Given the description of an element on the screen output the (x, y) to click on. 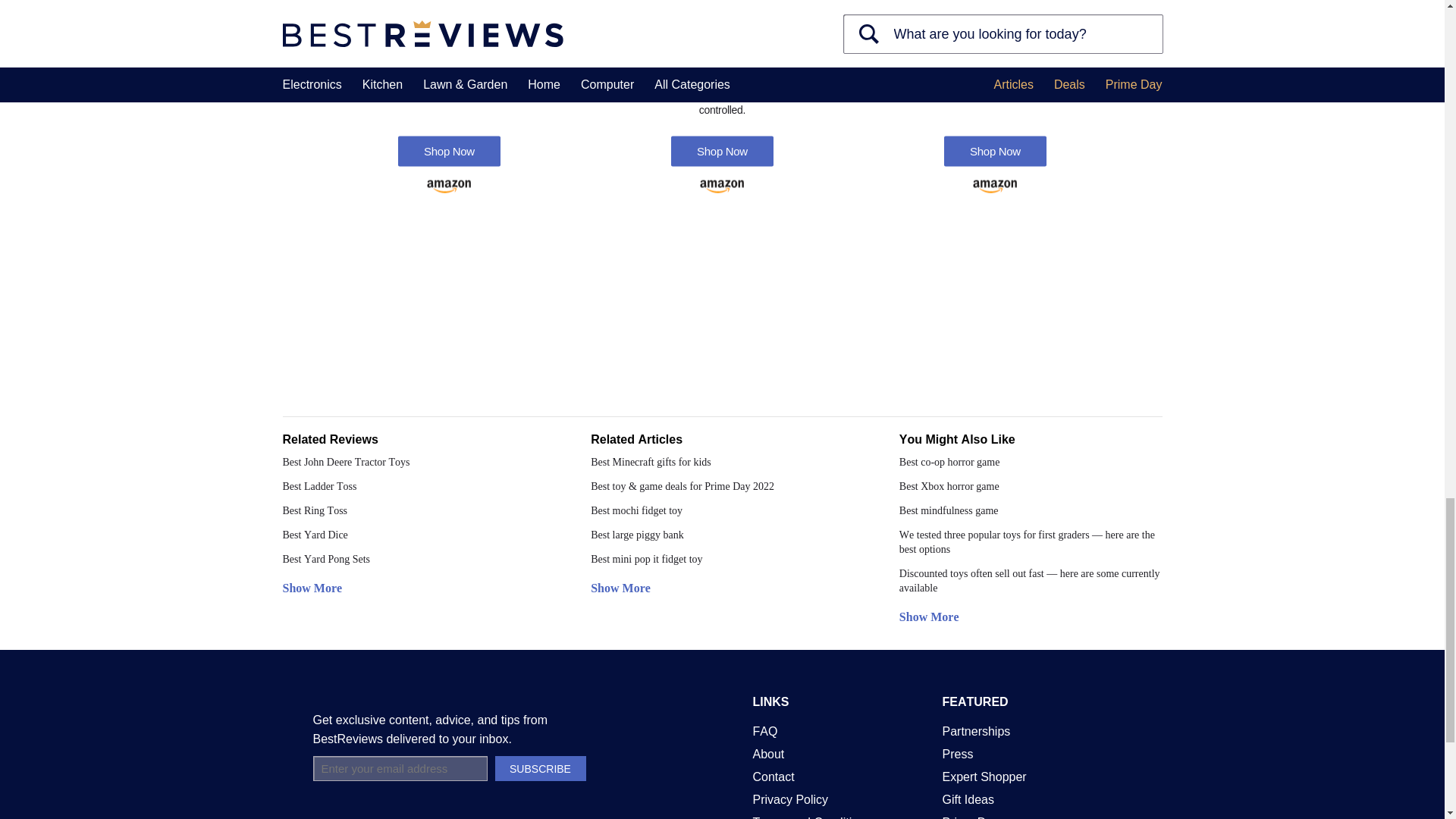
Frequently asked questions (764, 730)
Subscribe email (399, 768)
Contact Us (772, 776)
